Given the description of an element on the screen output the (x, y) to click on. 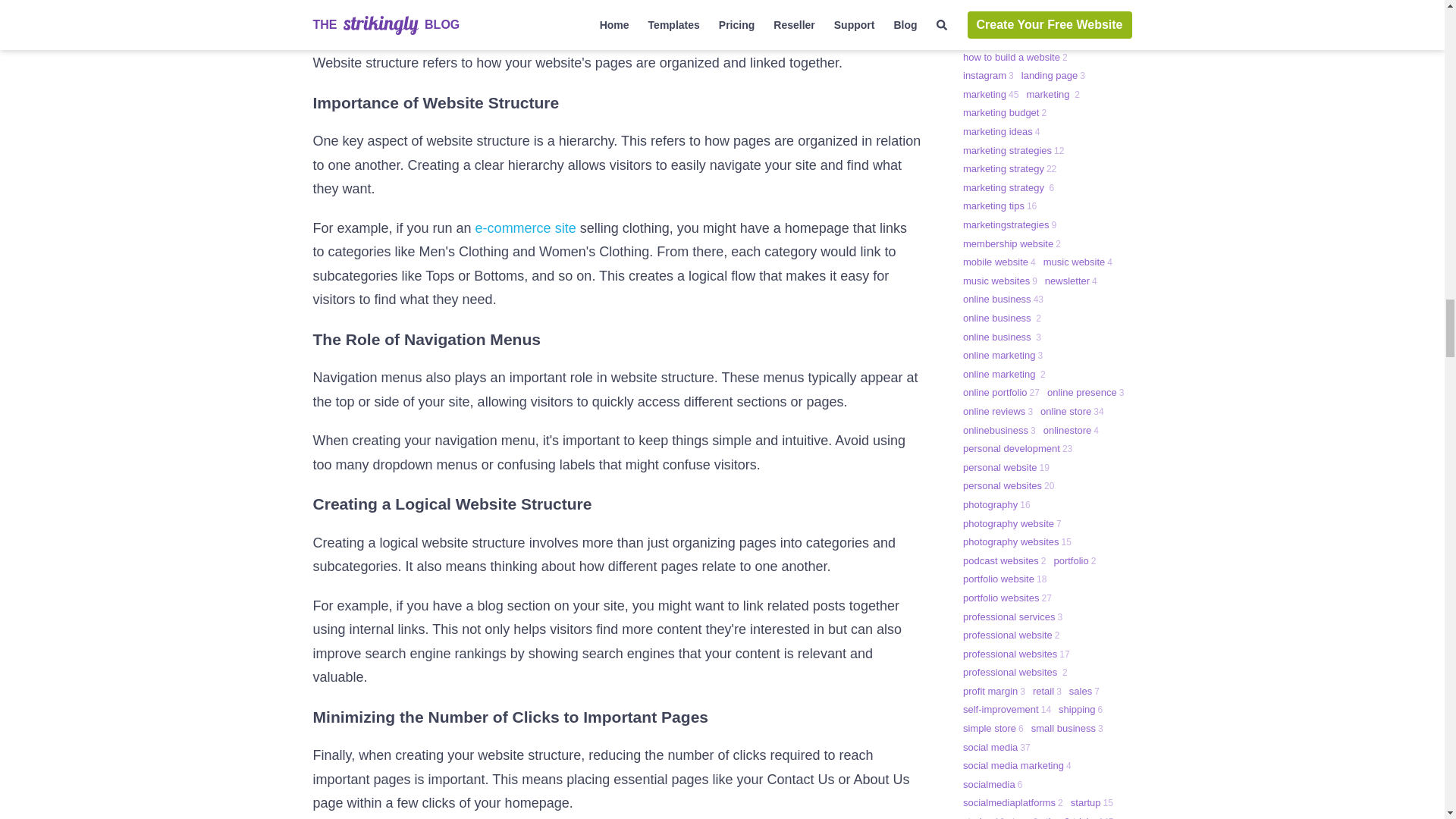
e-commerce site (526, 227)
